Given the description of an element on the screen output the (x, y) to click on. 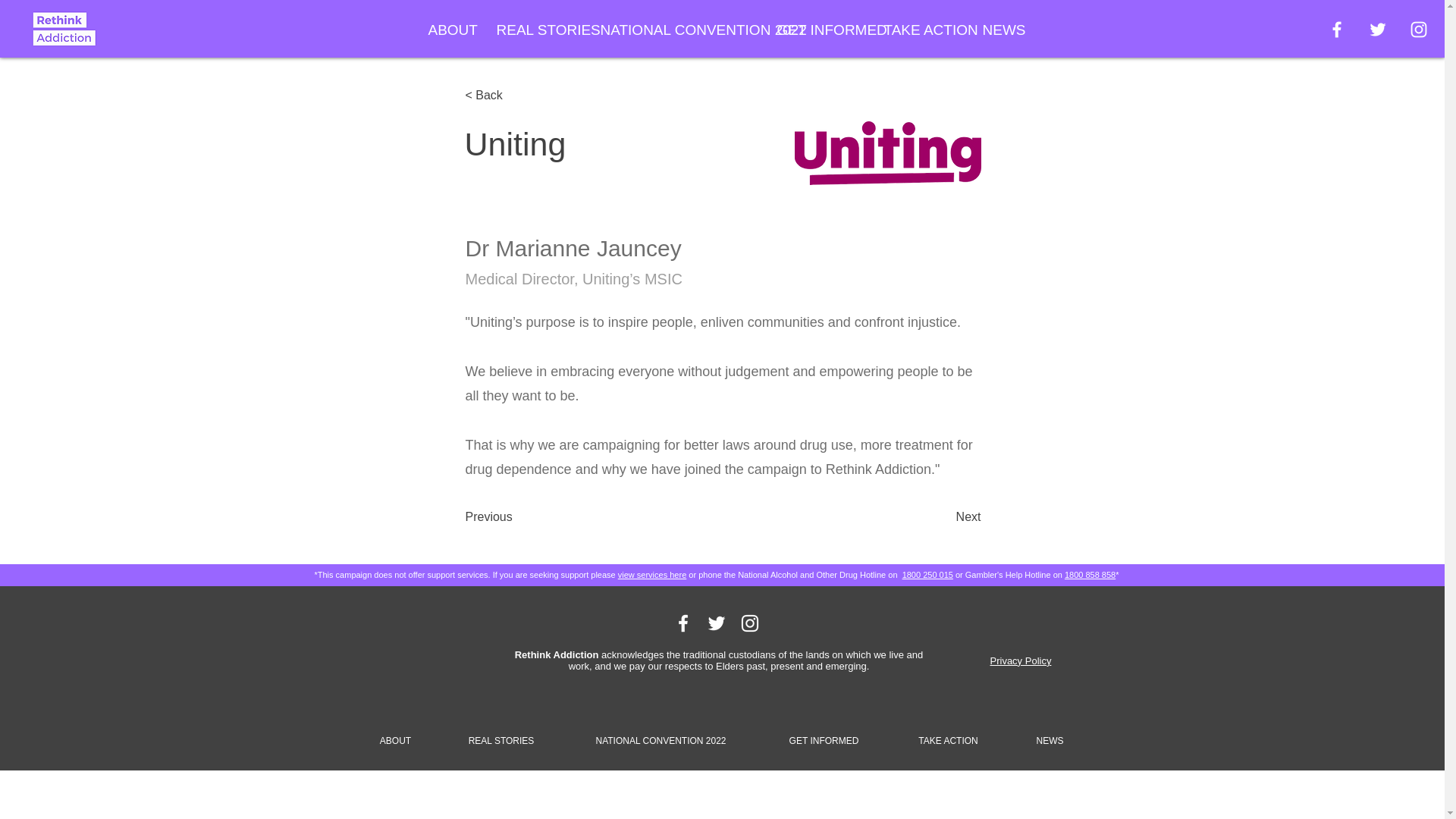
REAL STORIES (536, 30)
TAKE ACTION (921, 30)
Uniting.png (887, 153)
Privacy Policy (1020, 660)
NEWS (1001, 30)
1800 858 858 (1089, 574)
REAL STORIES (500, 734)
GET INFORMED (818, 30)
ABOUT (394, 734)
NATIONAL CONVENTION 2022 (676, 30)
1800 250 015 (927, 574)
Previous (515, 517)
ABOUT (450, 30)
Next (943, 517)
view services here (651, 574)
